Given the description of an element on the screen output the (x, y) to click on. 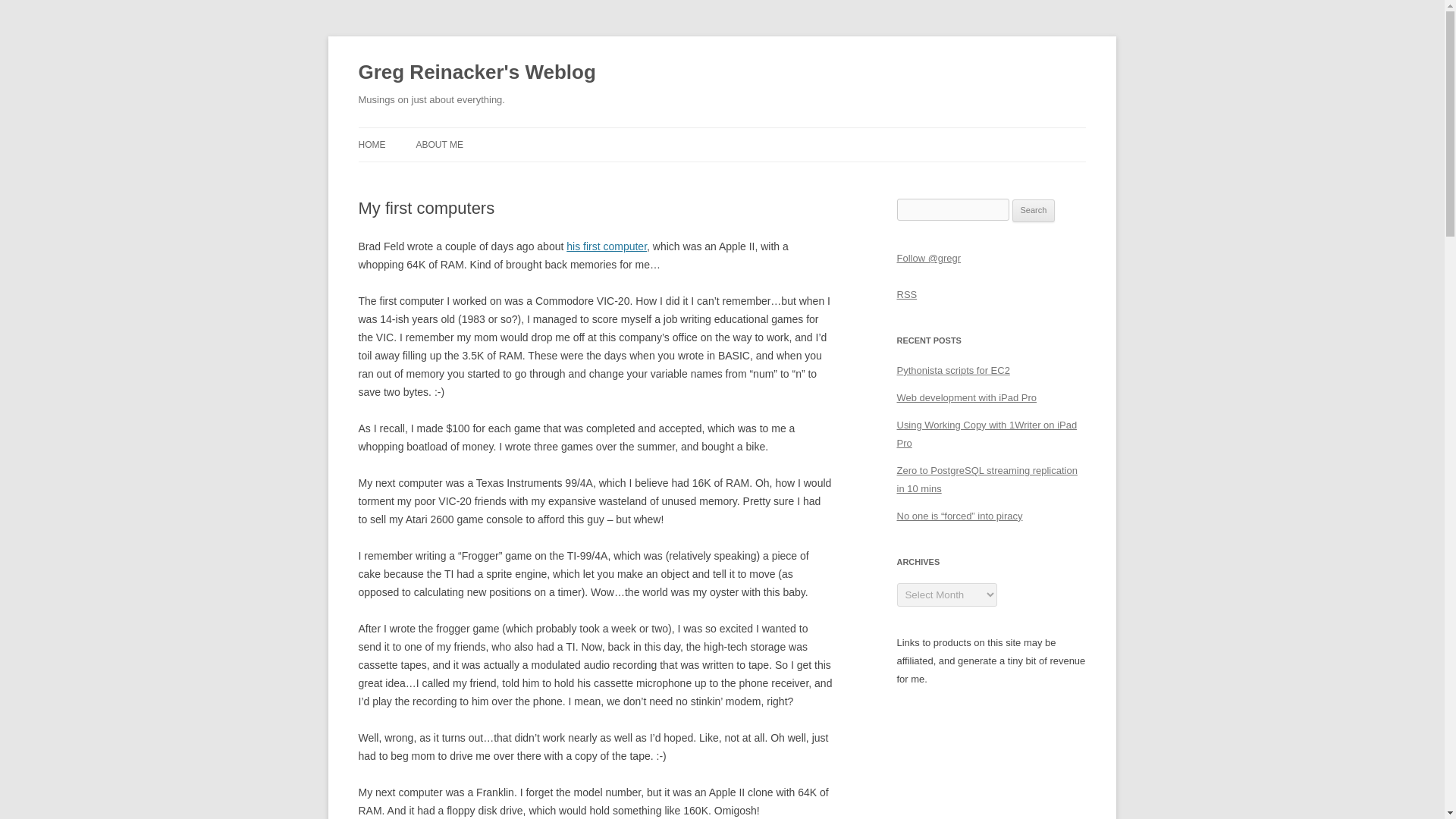
Greg Reinacker's Weblog (476, 72)
Search (1033, 210)
Using Working Copy with 1Writer on iPad Pro (986, 433)
Search (1033, 210)
Pythonista scripts for EC2 (952, 369)
RSS (906, 294)
his first computer (606, 246)
Zero to PostgreSQL streaming replication in 10 mins (986, 479)
ABOUT ME (438, 144)
